Given the description of an element on the screen output the (x, y) to click on. 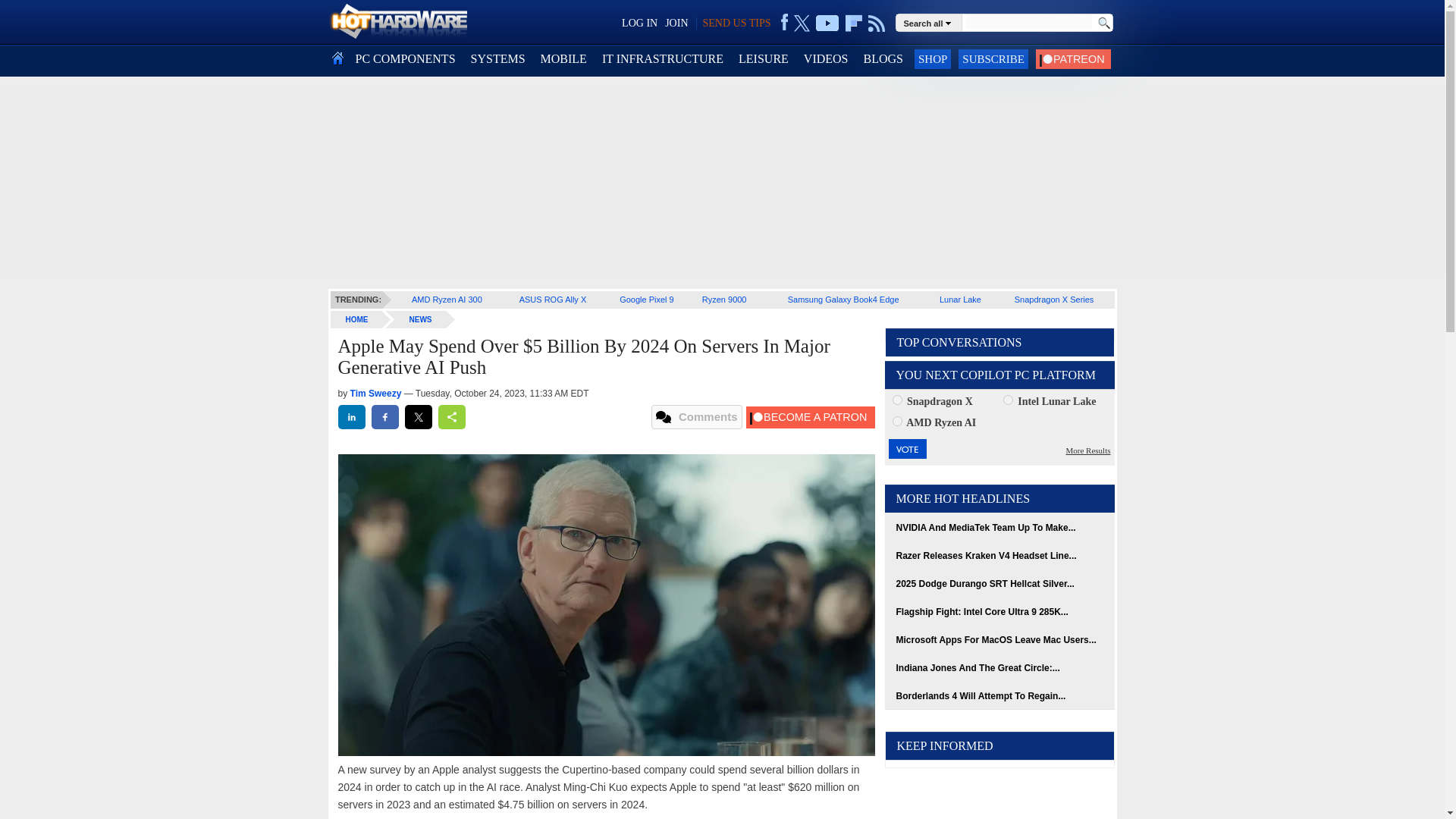
SIGN OUT (39, 18)
Go (1103, 22)
JOIN (676, 22)
Comments (696, 416)
Go (1103, 22)
SEND US TIPS (735, 22)
Blogs (883, 58)
keyword (1028, 21)
Go (1103, 22)
LOG IN (639, 22)
